Given the description of an element on the screen output the (x, y) to click on. 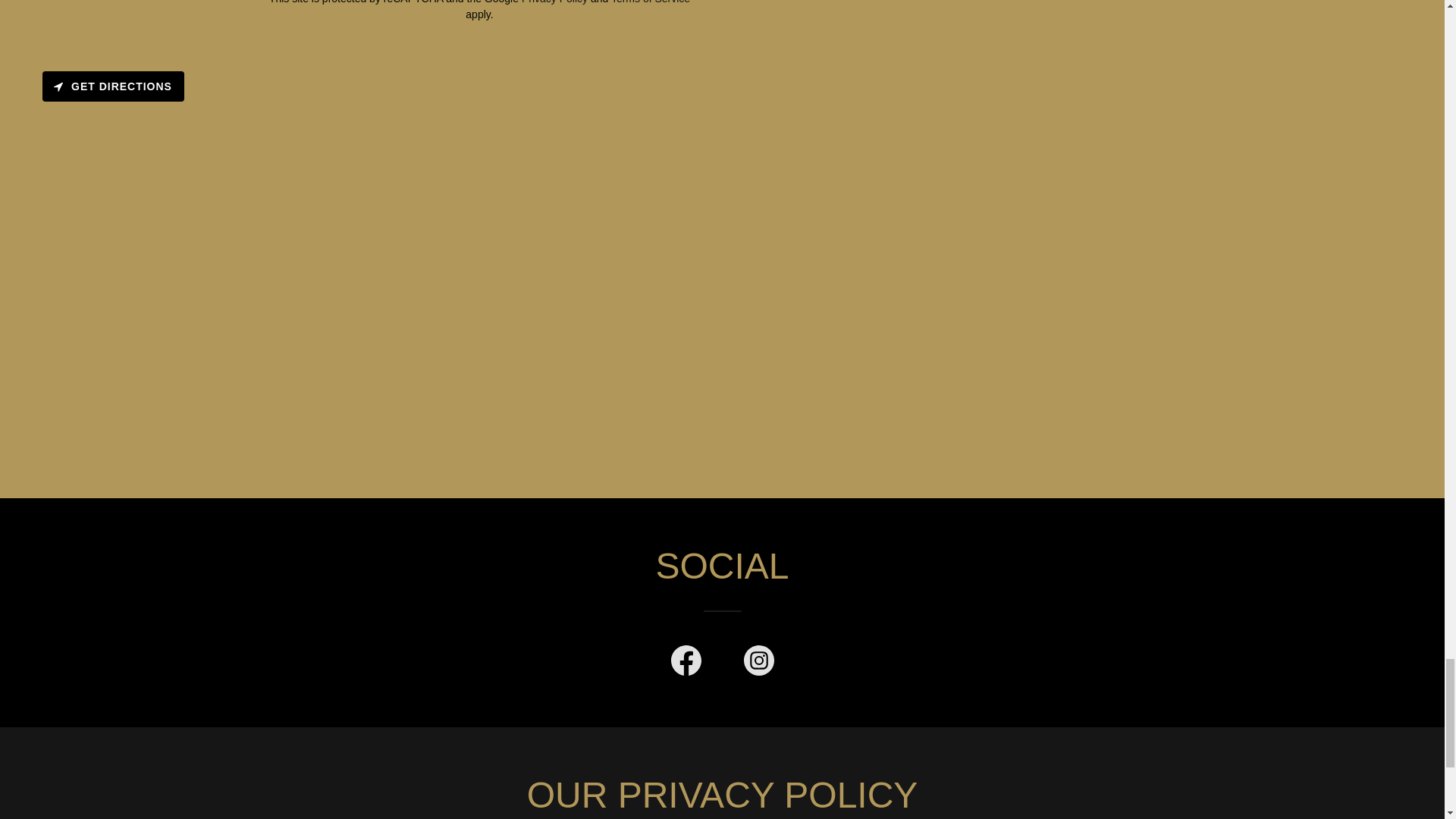
Terms of Service (650, 2)
GET DIRECTIONS (113, 86)
Privacy Policy (554, 2)
